Given the description of an element on the screen output the (x, y) to click on. 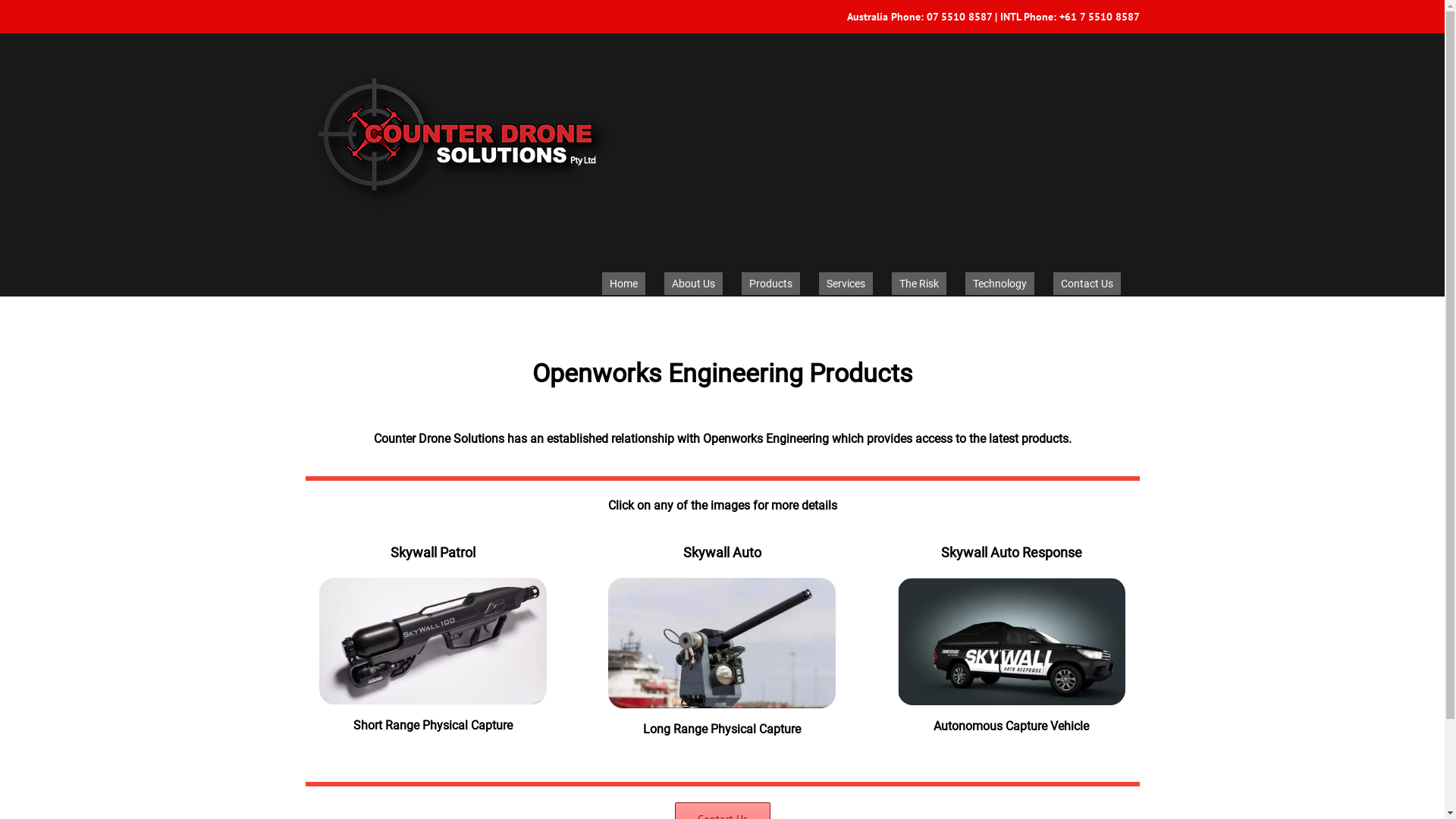
About Us Element type: text (693, 282)
Services Element type: text (845, 282)
Home Element type: text (623, 282)
07 5510 8587 Element type: text (958, 16)
The Risk Element type: text (918, 282)
Technology Element type: text (998, 282)
Contact Us Element type: text (1086, 282)
Products Element type: text (770, 282)
